Given the description of an element on the screen output the (x, y) to click on. 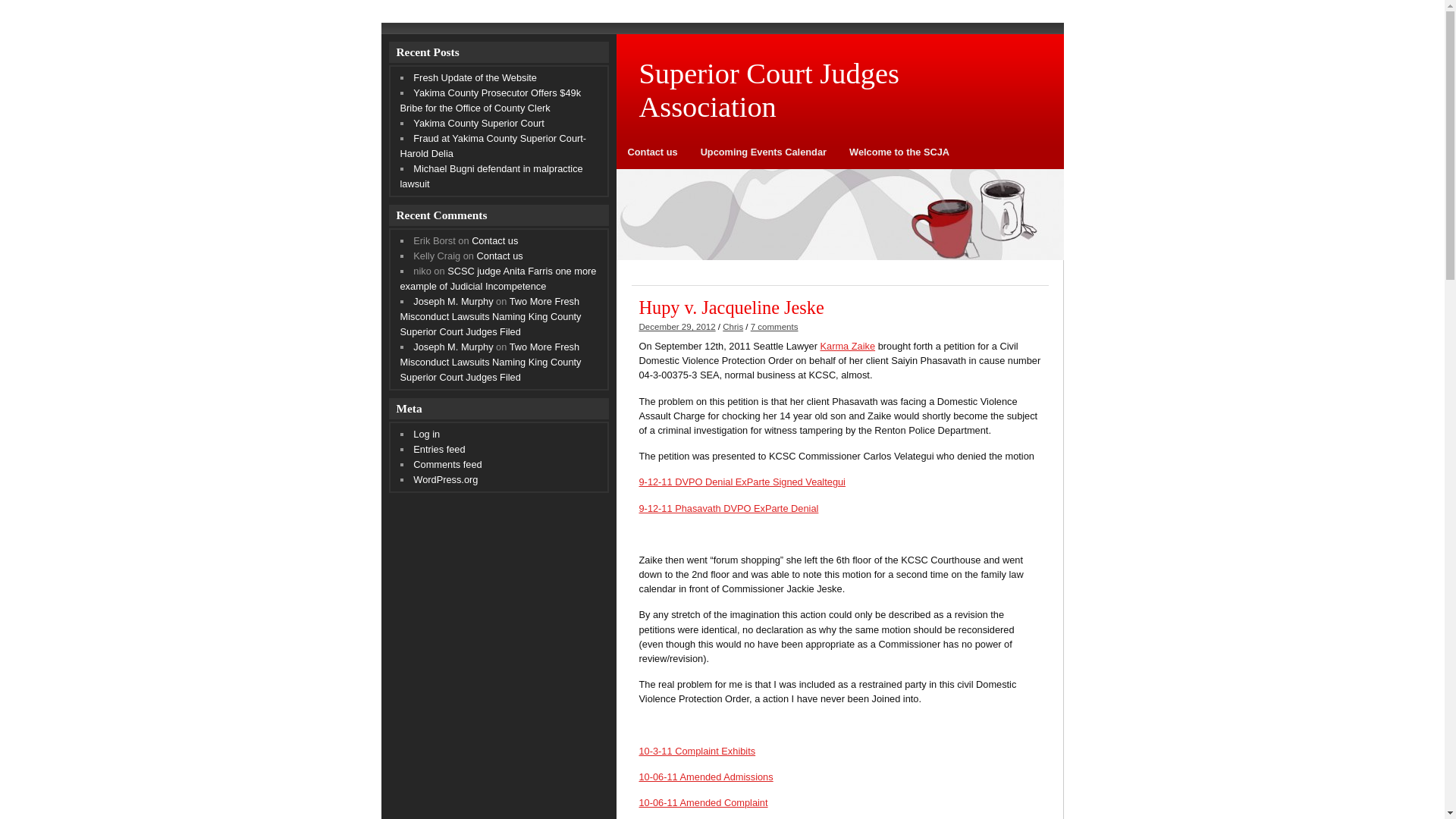
Posts by Chris (732, 326)
9-12-11 Phasavath DVPO ExParte Denial (728, 507)
Fresh Update of the Website (475, 77)
10-06-11 Amended Complaint (703, 802)
10-06-11 Amended Admissions (706, 776)
Contact us (651, 157)
Michael Bugni defendant in malpractice lawsuit (491, 175)
7 comments (774, 326)
Fraud at Yakima County Superior Court- Harold Delia (493, 145)
